Given the description of an element on the screen output the (x, y) to click on. 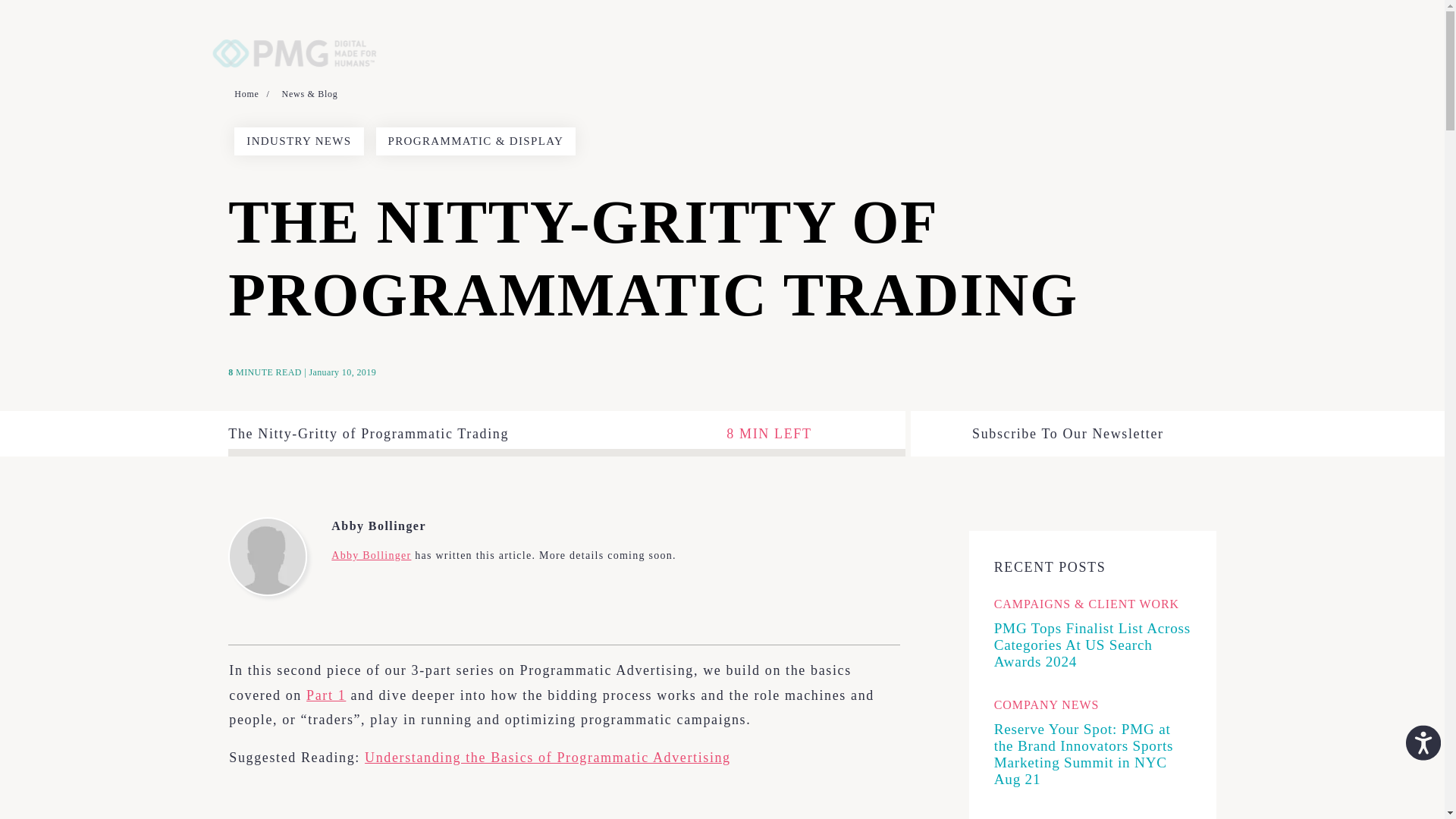
See more articles from this author (504, 525)
Part 1 (325, 694)
Go to home page (298, 29)
Go to Home (251, 94)
Home (251, 94)
INDUSTRY NEWS (298, 141)
Abby Bollinger (504, 525)
See more articles from this author (370, 555)
